Given the description of an element on the screen output the (x, y) to click on. 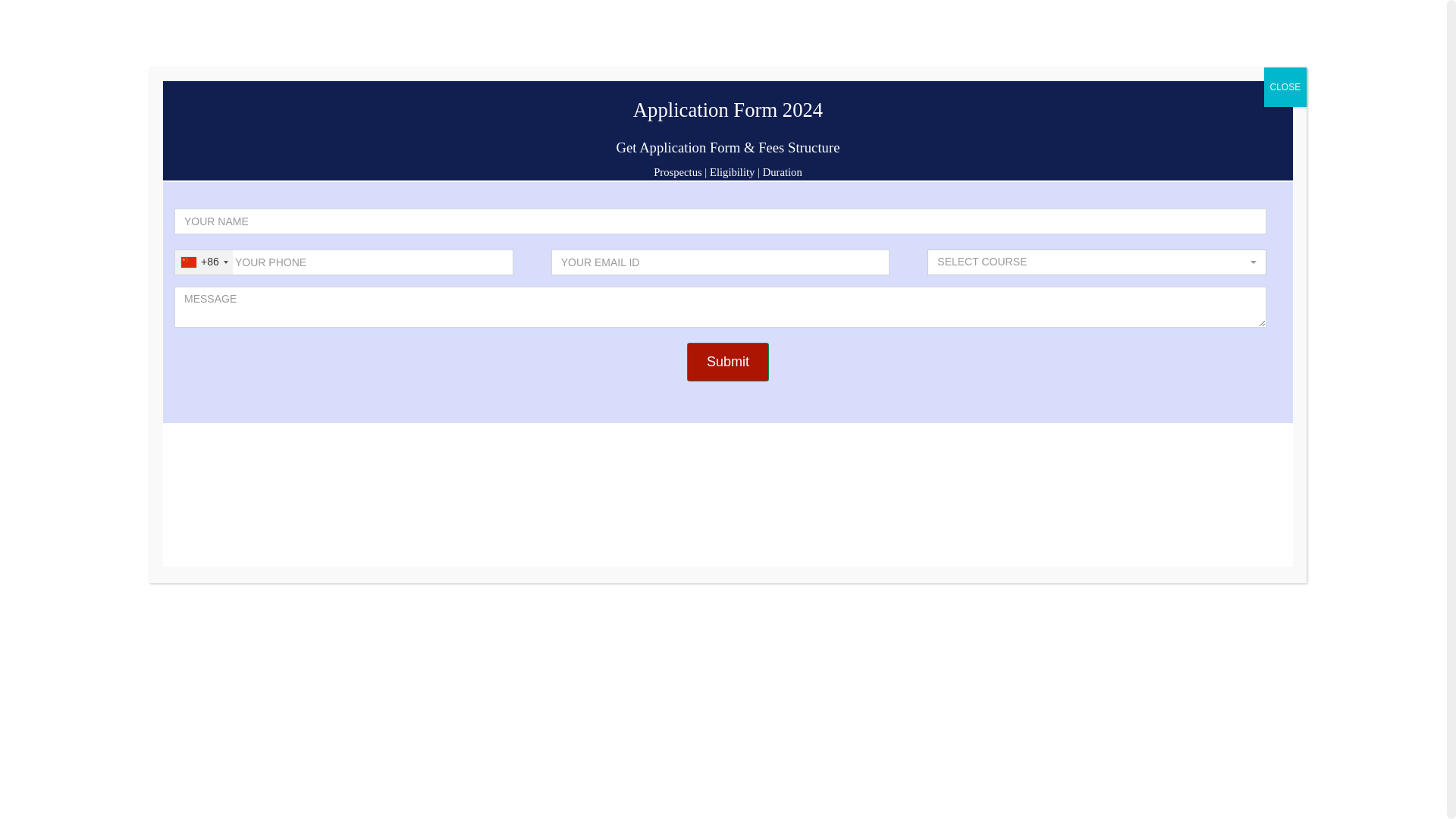
Education Course (1102, 149)
Diploma Course (525, 149)
Management Course (887, 149)
Home (308, 149)
Science Course (635, 149)
Distance University (402, 149)
Education News (482, 12)
IGNOU (425, 12)
Login (982, 12)
Home (301, 12)
Distance Education (362, 12)
Engineering Course (753, 149)
Arts Course (997, 149)
